Given the description of an element on the screen output the (x, y) to click on. 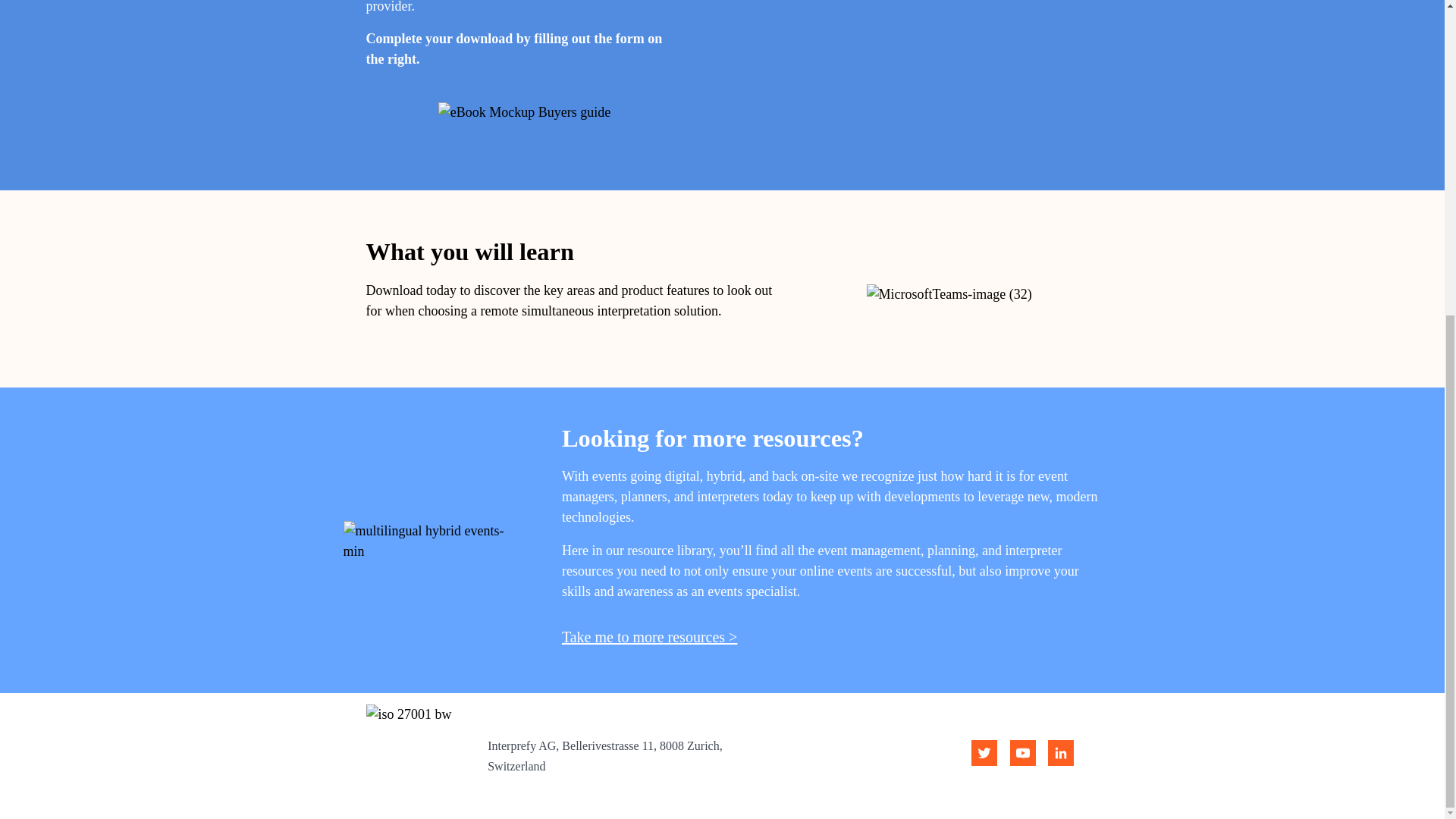
iso 27001 bw (416, 756)
multilingual hybrid events-min (430, 540)
eBook Mockup Buyers guide (524, 112)
